Given the description of an element on the screen output the (x, y) to click on. 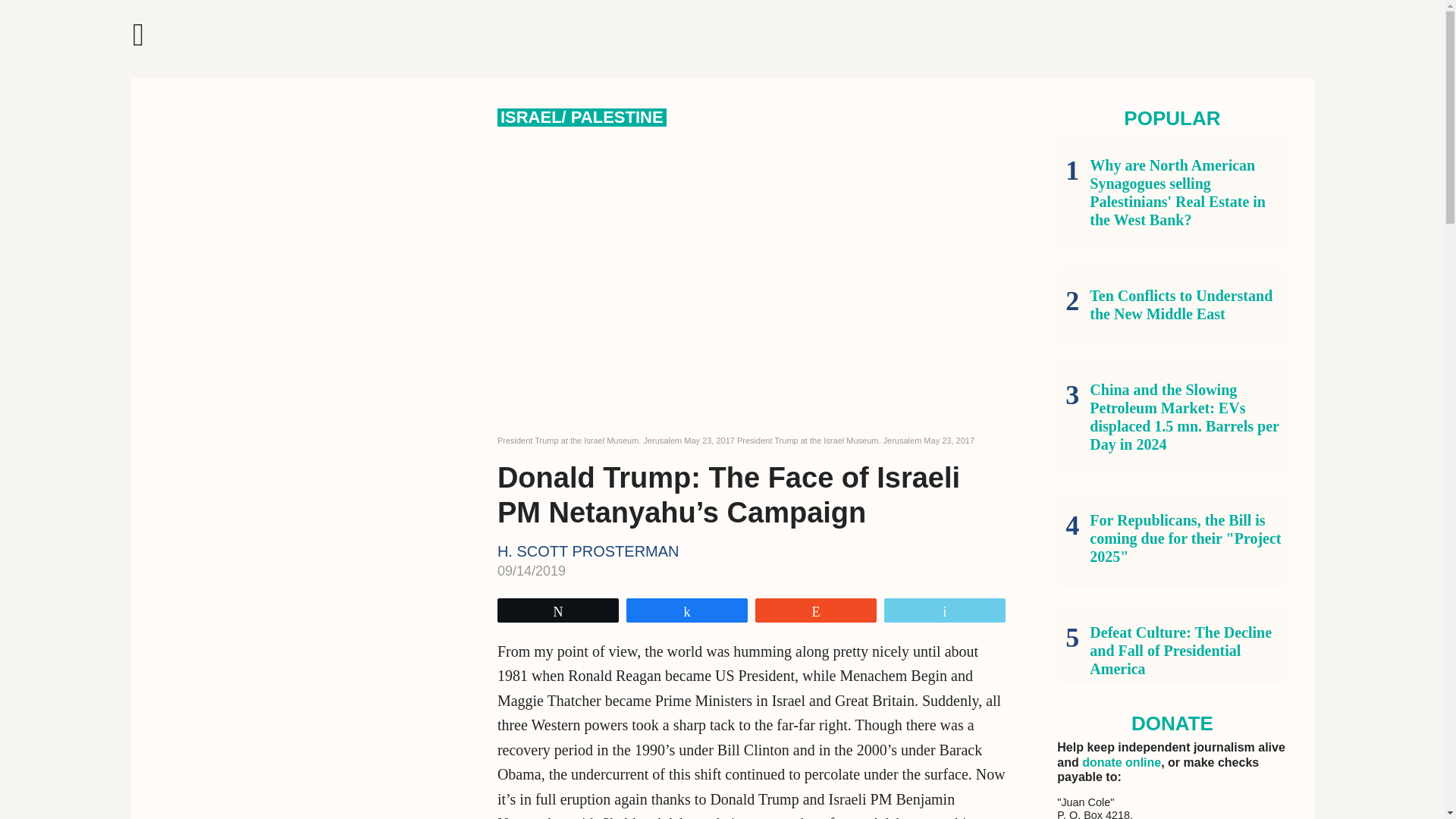
Defeat Culture: The Decline and Fall of Presidential America (1171, 650)
donate online (1120, 762)
H. SCOTT PROSTERMAN (588, 550)
Ten Conflicts to Understand the New Middle East (1171, 304)
